Given the description of an element on the screen output the (x, y) to click on. 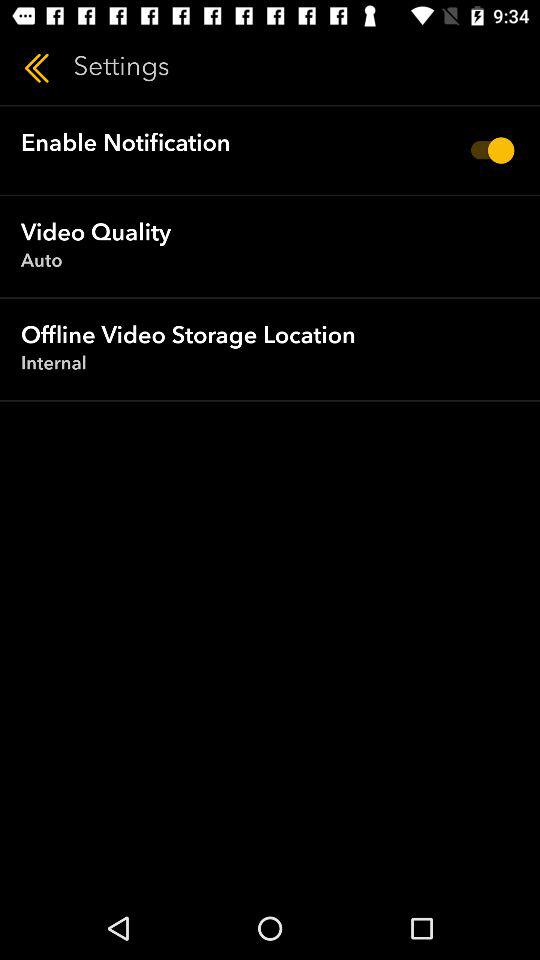
press the icon to the left of the settings item (36, 68)
